Given the description of an element on the screen output the (x, y) to click on. 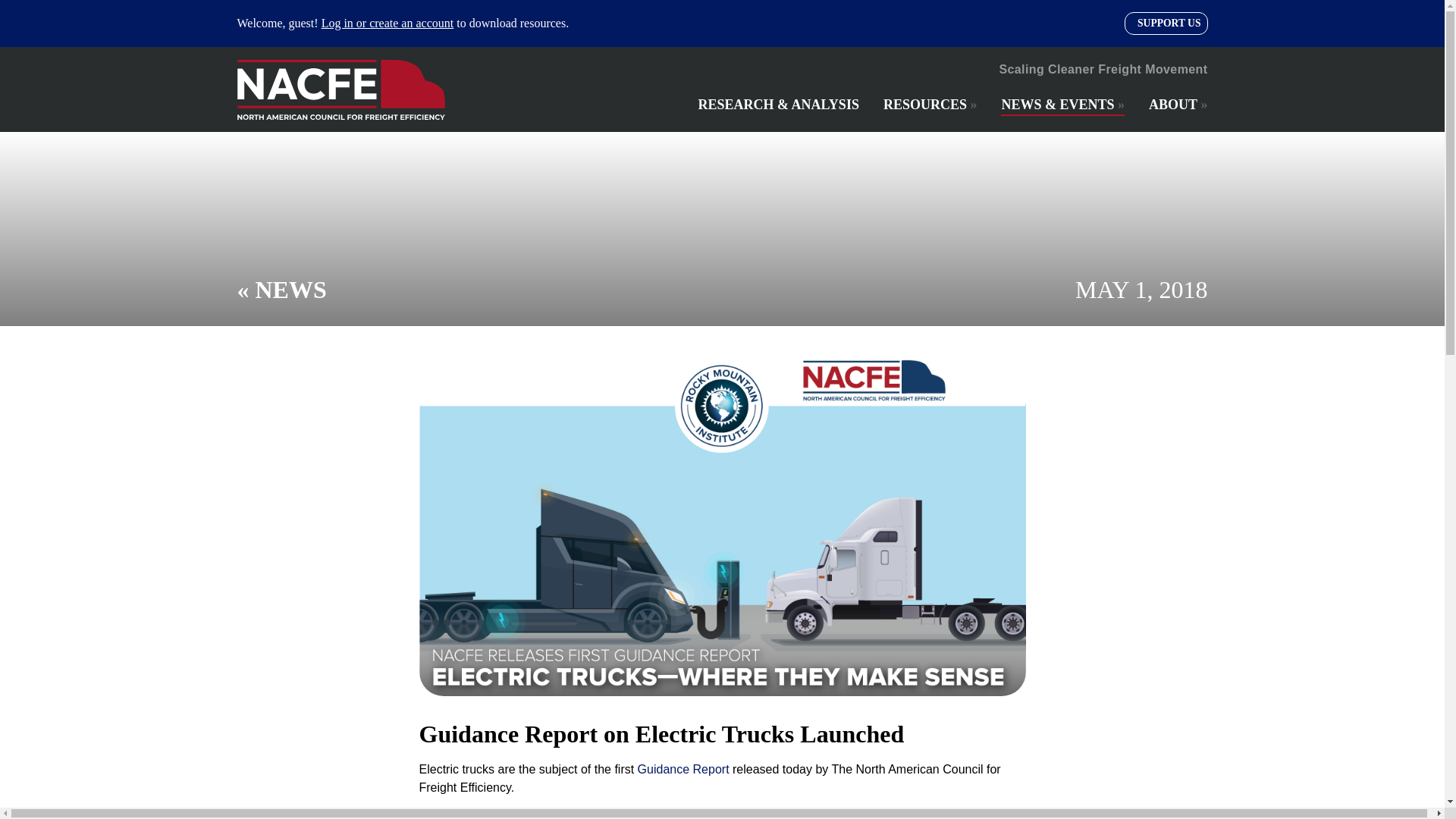
Guidance Report (683, 768)
Log in or create an account (387, 22)
ABOUT (1178, 104)
NEWS (290, 289)
SUPPORT US (1166, 23)
Login (268, 219)
RESOURCES (929, 104)
